Given the description of an element on the screen output the (x, y) to click on. 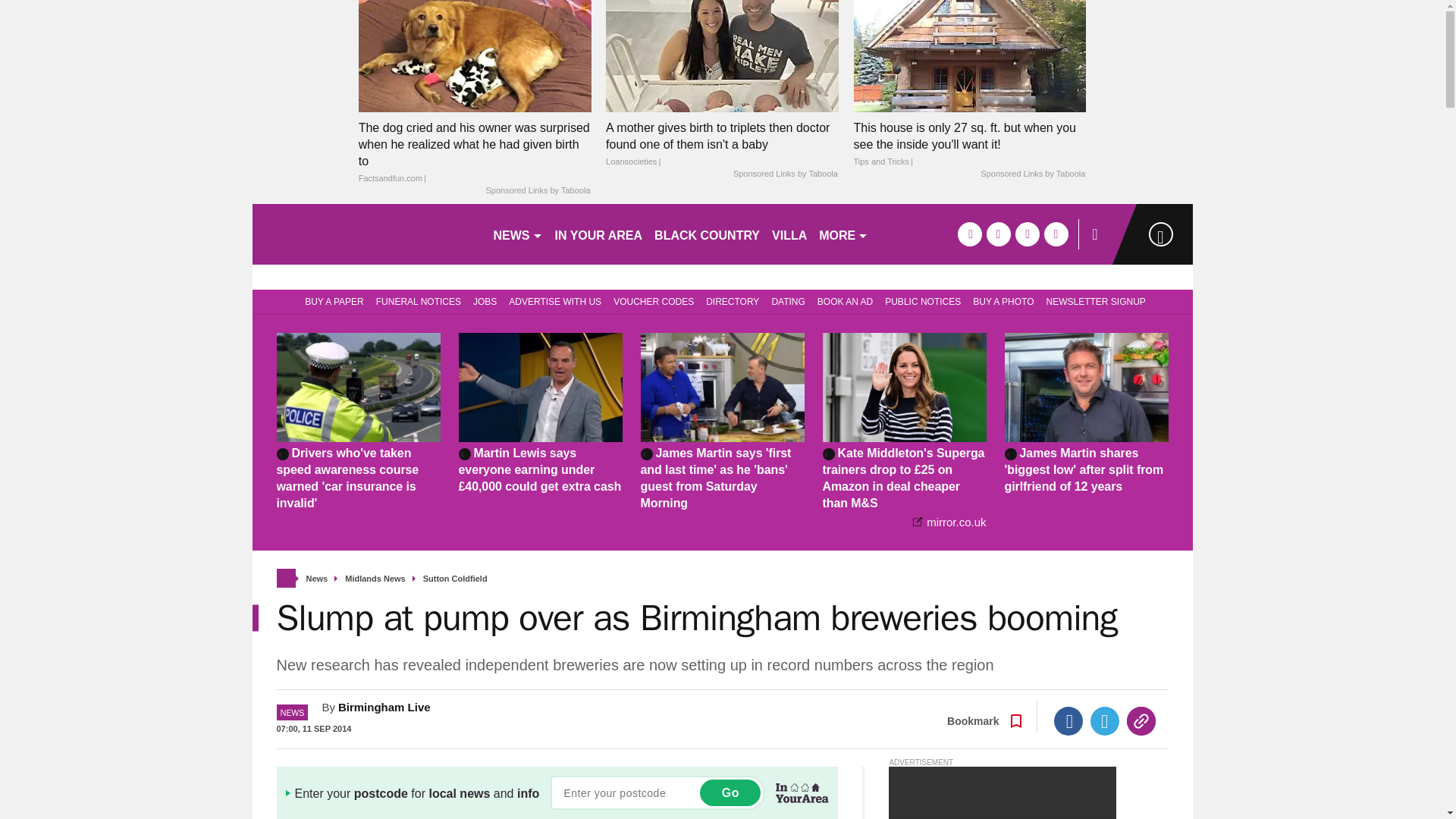
Sponsored Links by Taboola (536, 190)
Twitter (1104, 720)
BLACK COUNTRY (706, 233)
birminghammail (365, 233)
facebook (968, 233)
tiktok (1026, 233)
Sponsored Links by Taboola (785, 174)
twitter (997, 233)
MORE (843, 233)
IN YOUR AREA (598, 233)
